Given the description of an element on the screen output the (x, y) to click on. 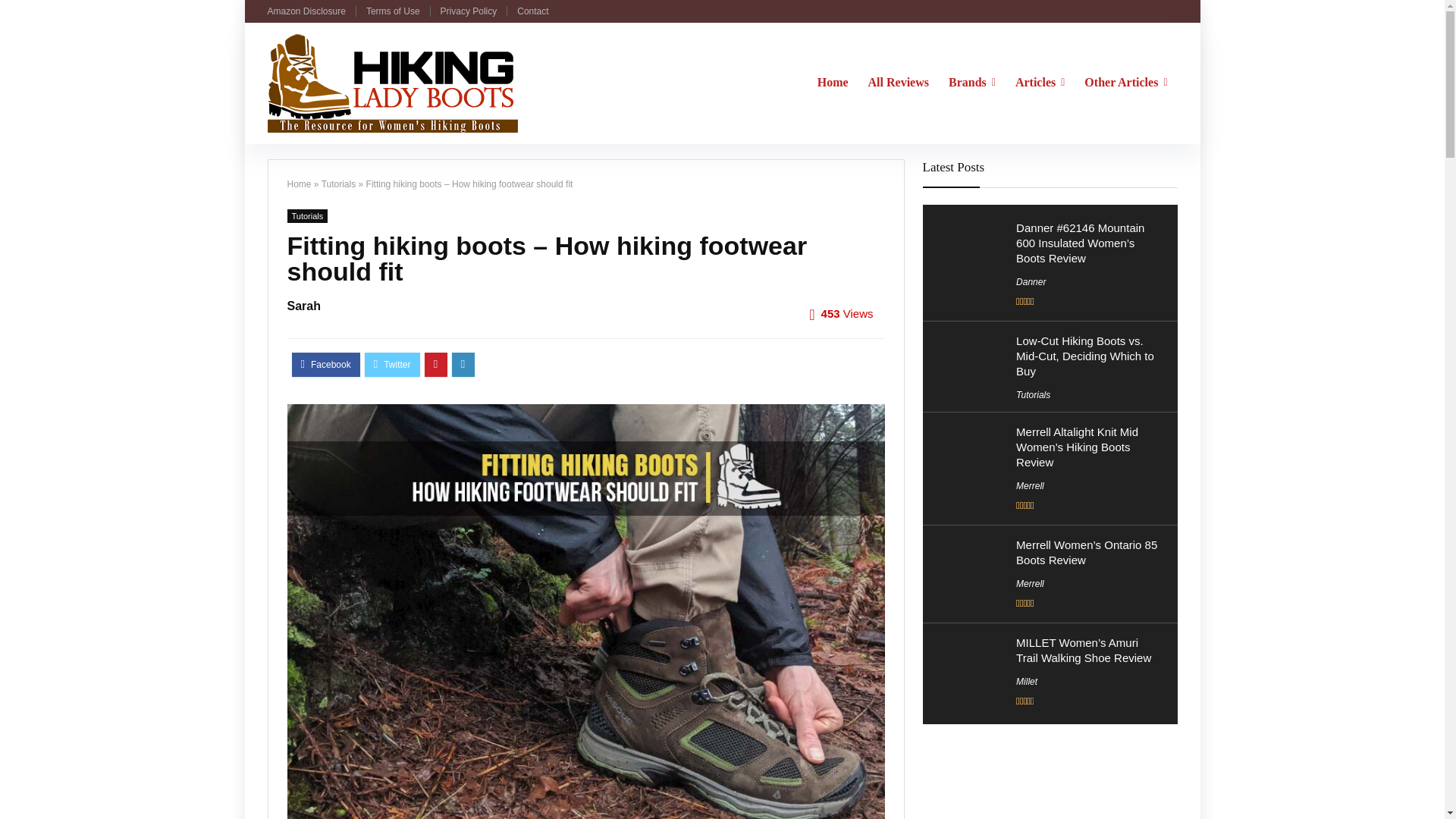
Amazon Disclosure (305, 10)
All Reviews (899, 82)
Brands (972, 82)
Home (833, 82)
Terms of Use (393, 10)
Articles (1040, 82)
Other Articles (1125, 82)
Contact (532, 10)
View all posts in Tutorials (306, 215)
Privacy Policy (469, 10)
